Given the description of an element on the screen output the (x, y) to click on. 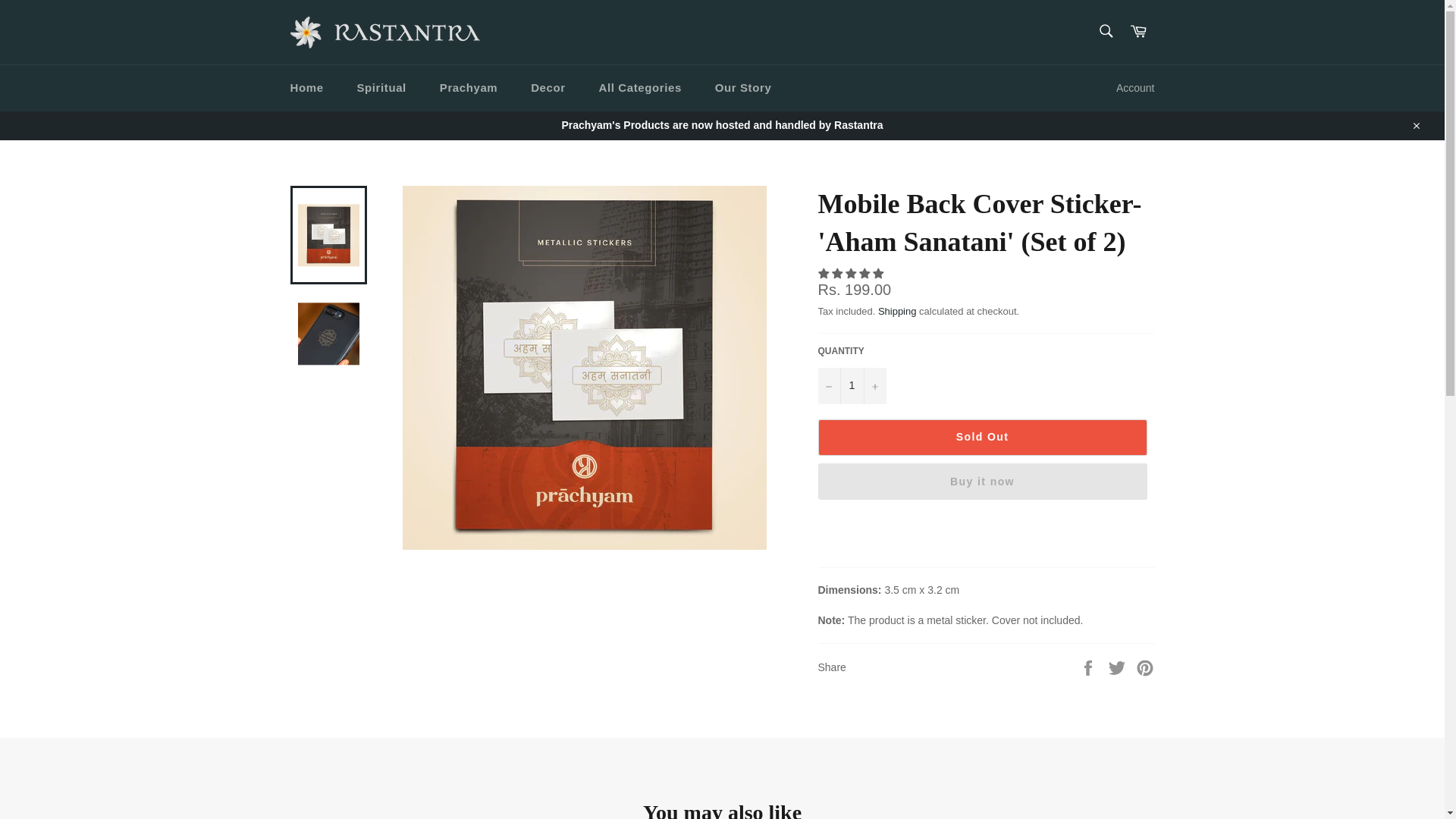
Cart (1138, 32)
Decor (547, 88)
Prachyam (469, 88)
Sold Out (981, 437)
Account (1134, 88)
Tweet on Twitter (1118, 666)
Spiritual (380, 88)
Our Story (743, 88)
Search (1104, 30)
Buy it now (981, 481)
